Given the description of an element on the screen output the (x, y) to click on. 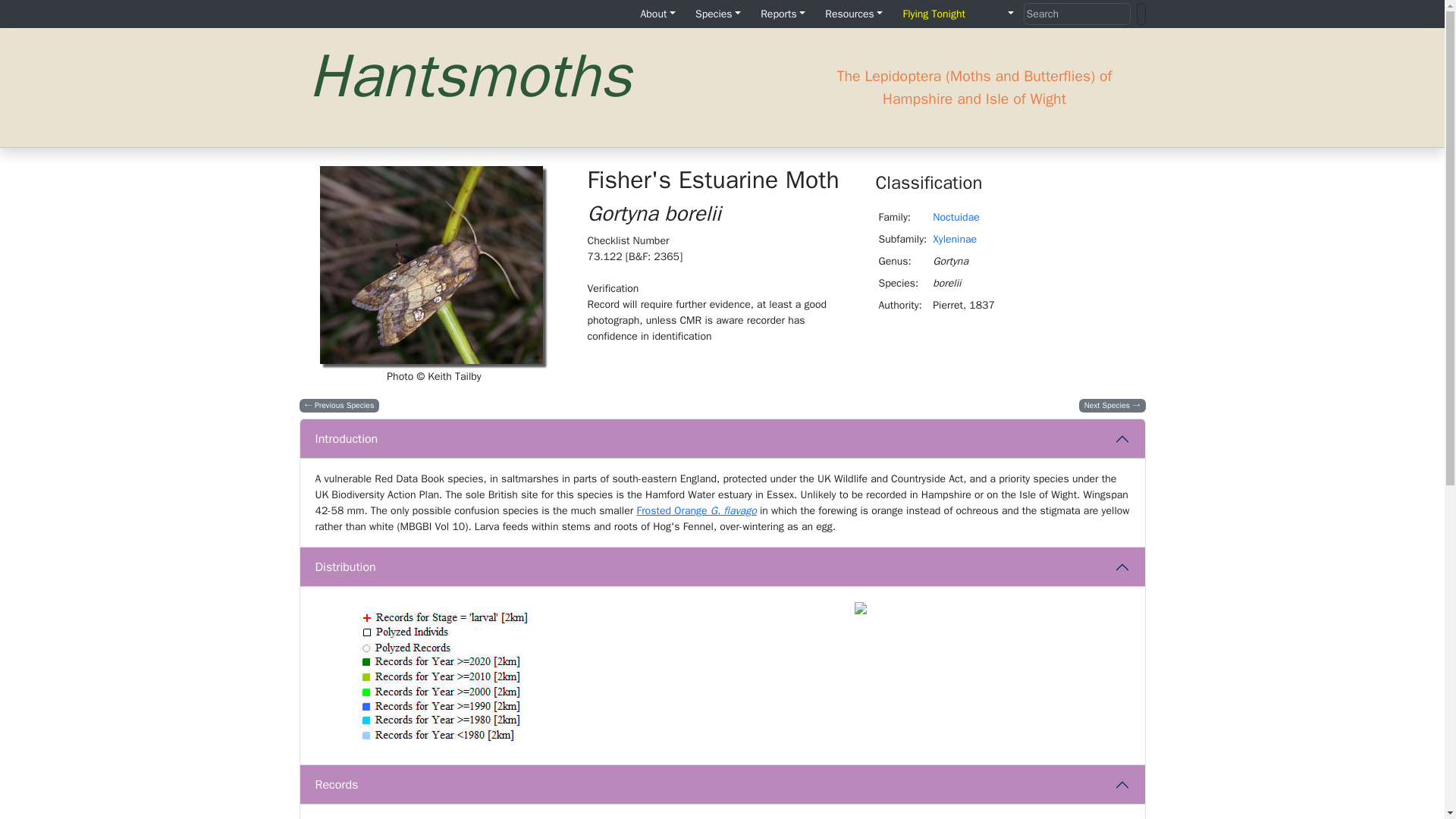
Reports (782, 13)
Resources (853, 13)
Introduction (721, 438)
Flying Tonight (933, 13)
Species (717, 13)
Frosted Orange G. flavago (695, 510)
About (657, 13)
Distribution (721, 567)
Records (721, 784)
Noctuidae (956, 216)
